Given the description of an element on the screen output the (x, y) to click on. 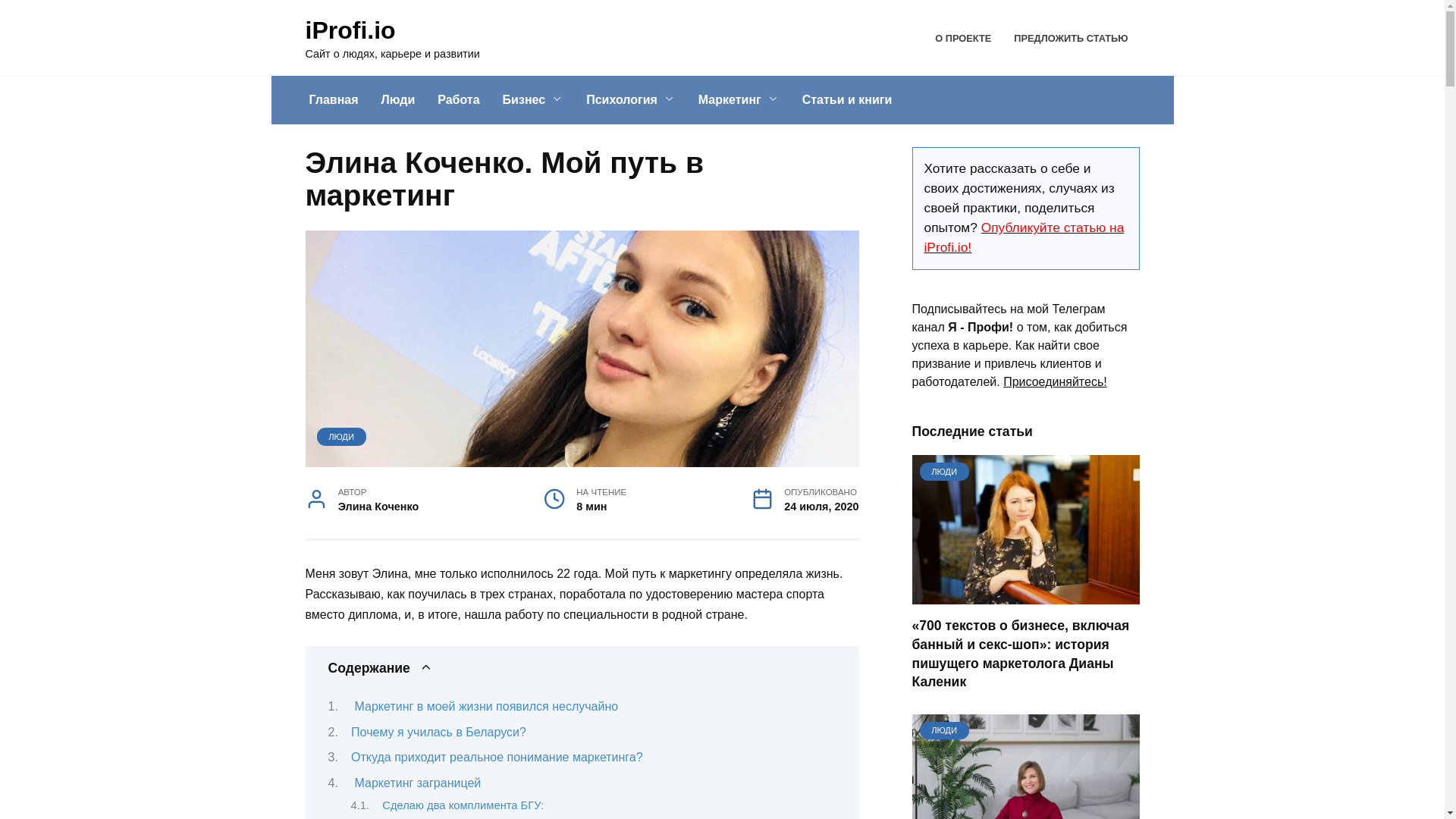
iProfi.io Element type: text (349, 29)
